Given the description of an element on the screen output the (x, y) to click on. 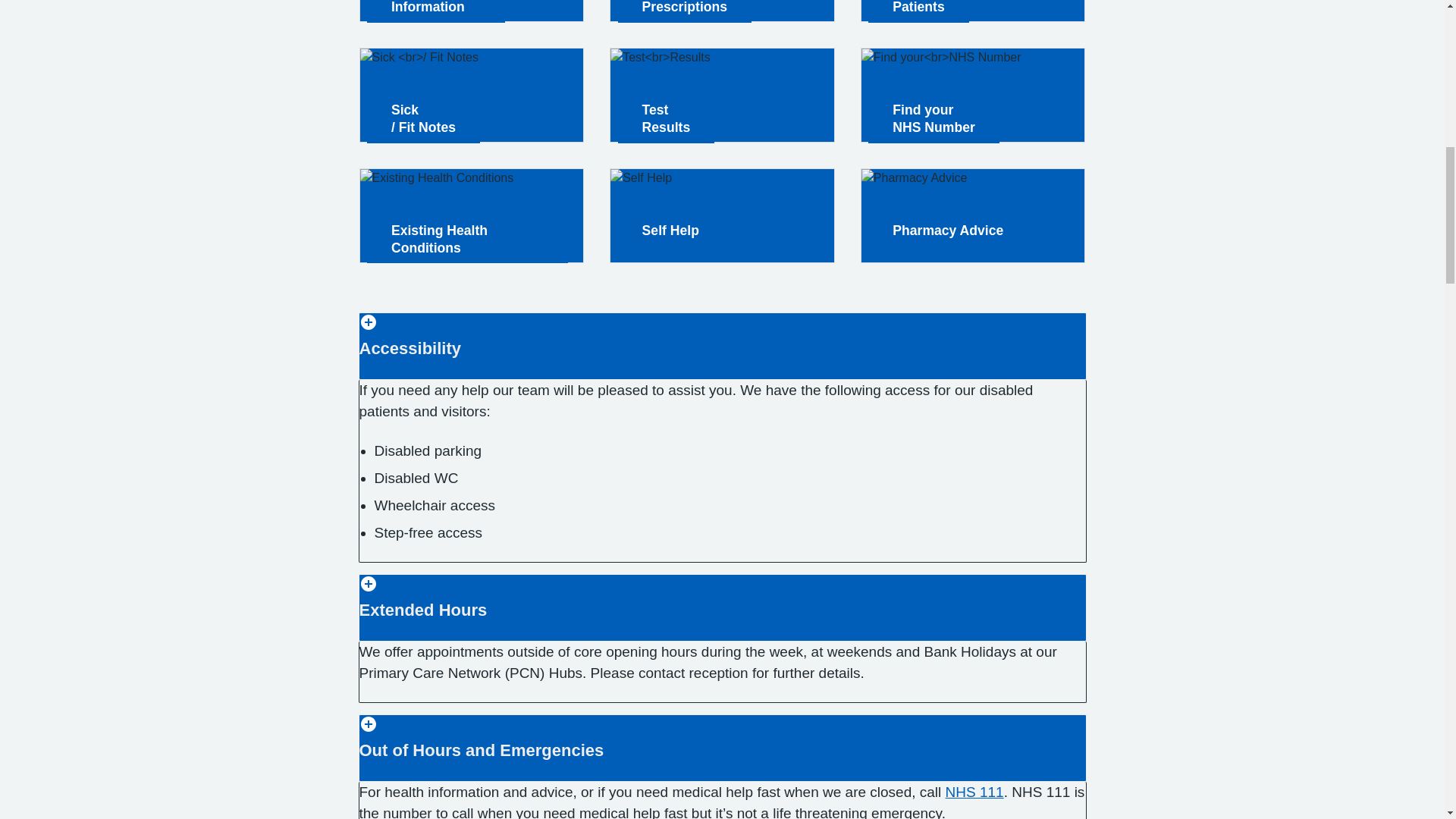
NHS 111 (721, 11)
Self Help (974, 791)
Pharmacy Advice (973, 94)
Existing Health Conditions (471, 11)
